Given the description of an element on the screen output the (x, y) to click on. 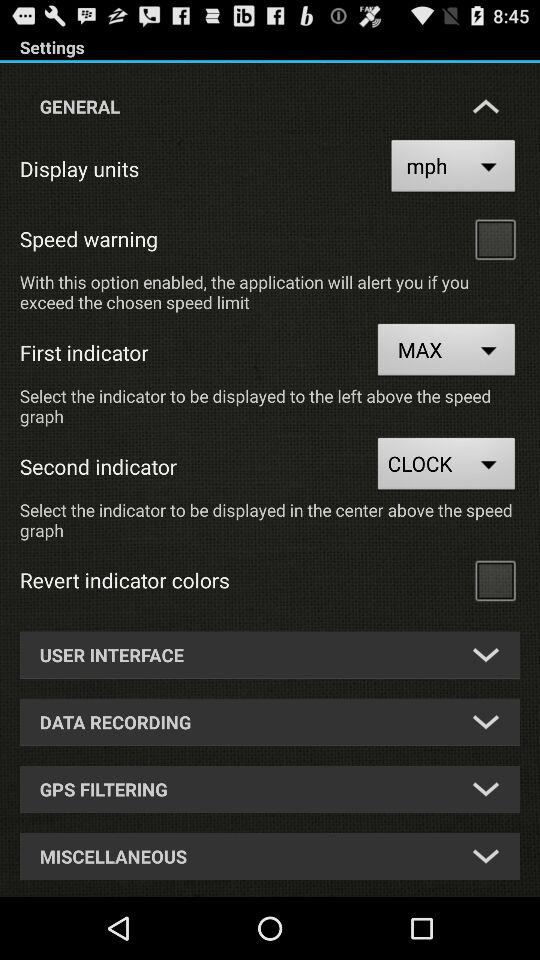
shows empty box (495, 579)
